Given the description of an element on the screen output the (x, y) to click on. 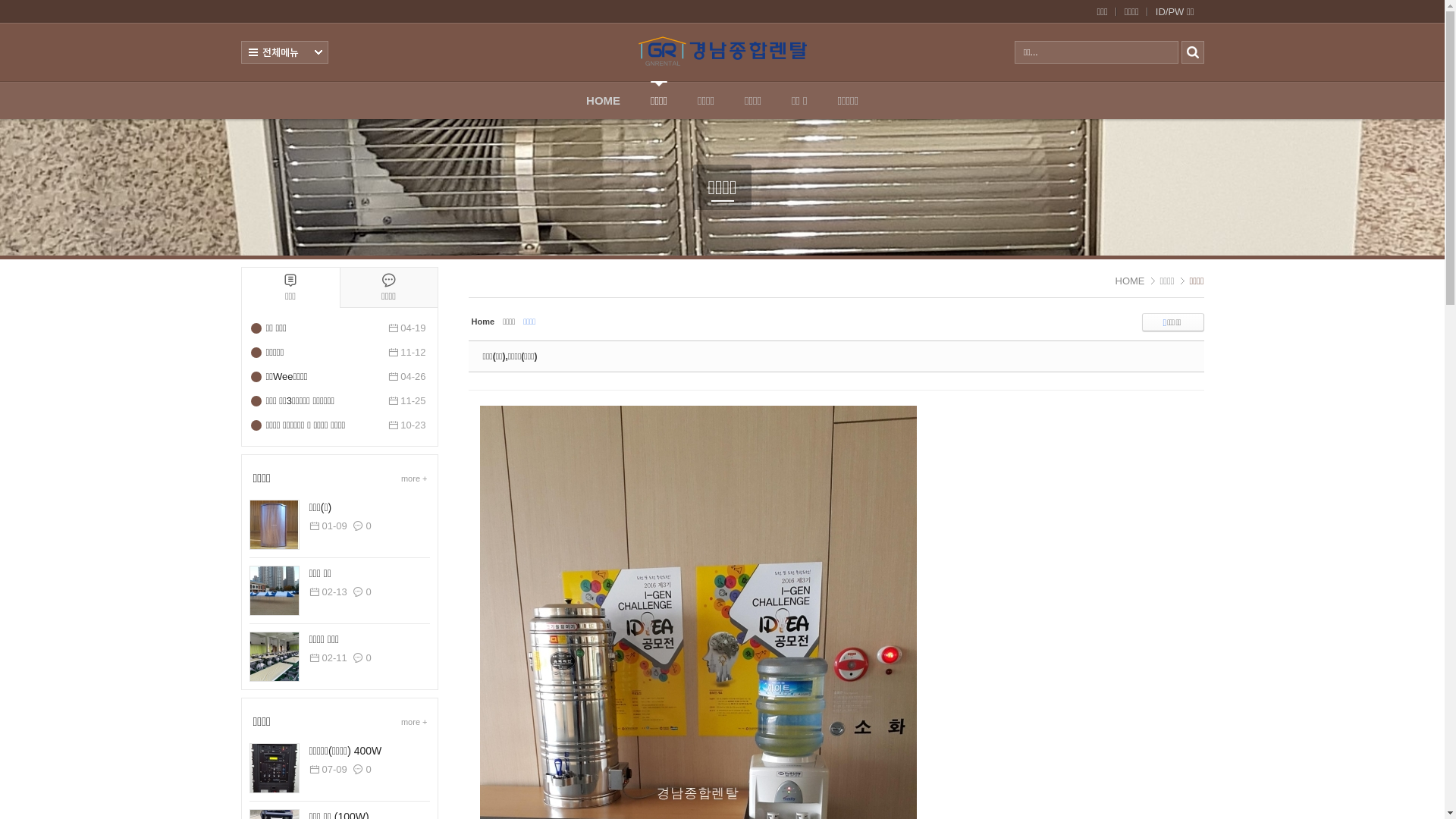
Home Element type: text (483, 321)
submit Element type: hover (1192, 51)
more + Element type: text (414, 478)
more + Element type: text (414, 721)
HOME Element type: text (1129, 280)
HOME Element type: text (603, 100)
keyword Element type: hover (1095, 51)
